Given the description of an element on the screen output the (x, y) to click on. 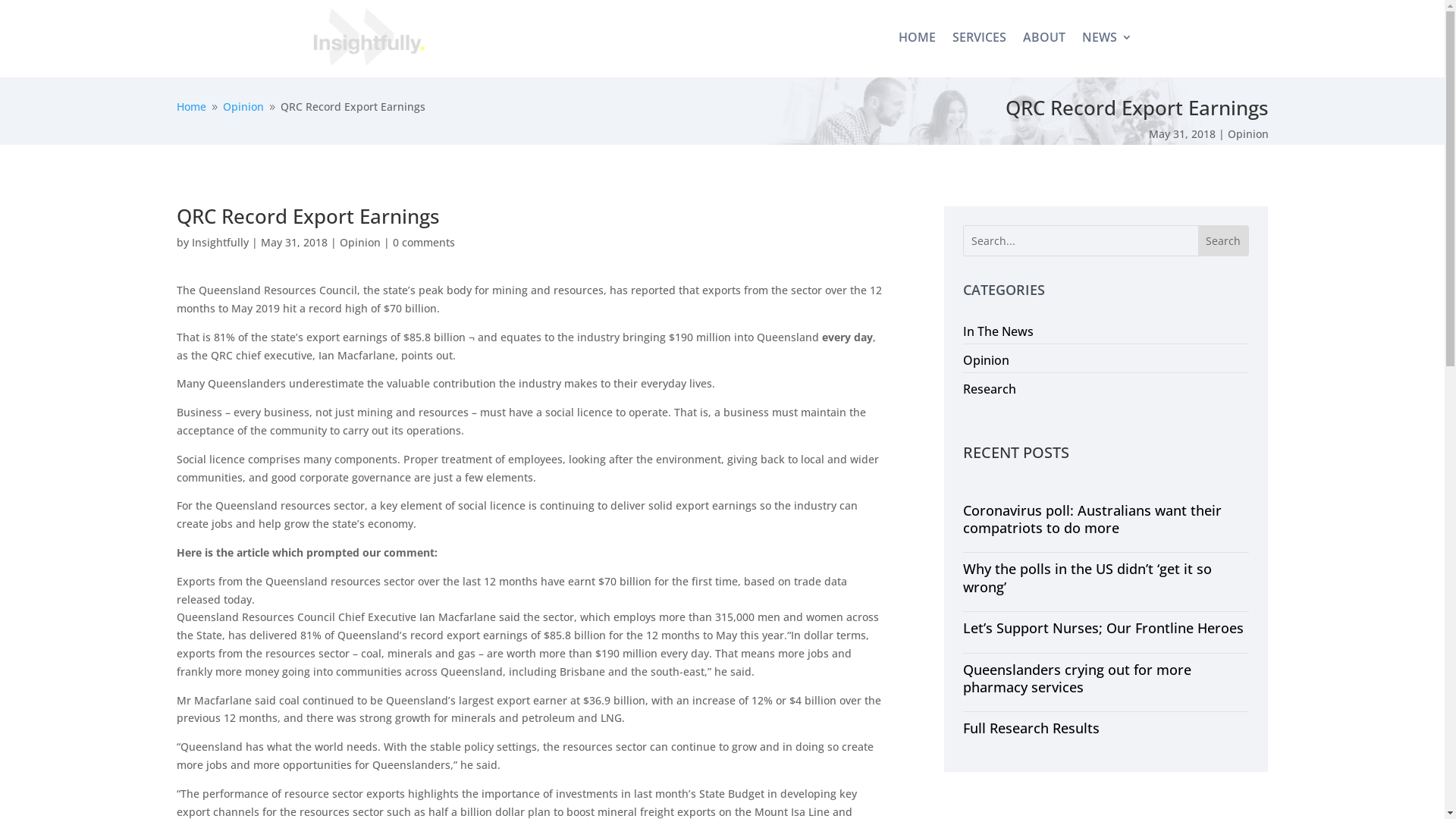
SERVICES Element type: text (979, 36)
Research Element type: text (989, 388)
NEWS Element type: text (1106, 36)
In The News Element type: text (998, 331)
Full Research Results Element type: text (1031, 727)
Opinion Element type: text (1246, 133)
Opinion Element type: text (359, 242)
Insightfully Element type: text (219, 242)
Queenslanders crying out for more pharmacy services Element type: text (1077, 678)
Search Element type: text (1223, 240)
Opinion Element type: text (986, 359)
Opinion Element type: text (242, 106)
ABOUT Element type: text (1043, 36)
HOME Element type: text (916, 36)
0 comments Element type: text (423, 242)
Home Element type: text (190, 106)
